Given the description of an element on the screen output the (x, y) to click on. 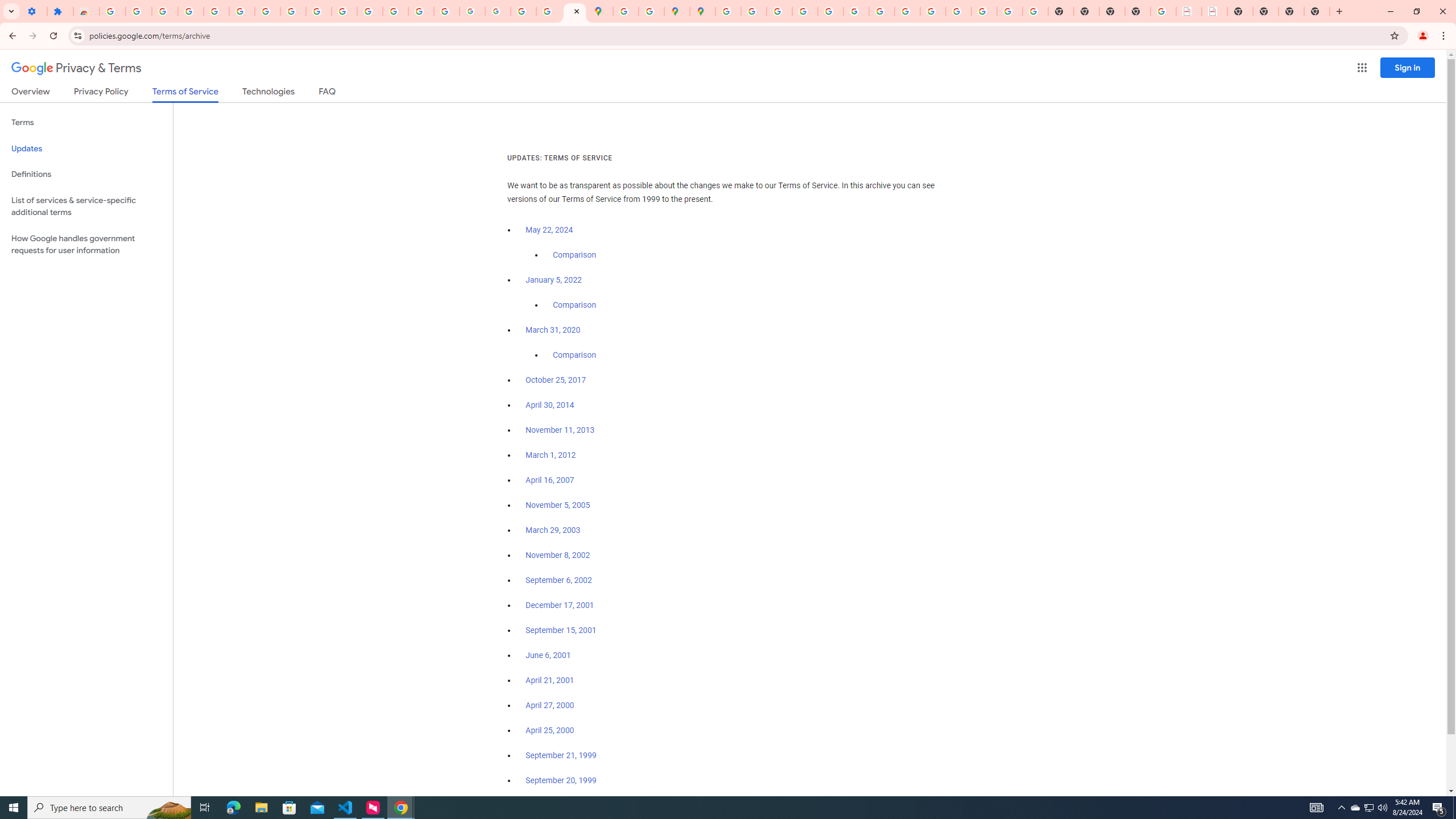
Definitions (86, 174)
April 30, 2014 (550, 405)
Google Maps (600, 11)
How Google handles government requests for user information (86, 244)
September 15, 2001 (560, 629)
LAAD Defence & Security 2025 | BAE Systems (1188, 11)
